Given the description of an element on the screen output the (x, y) to click on. 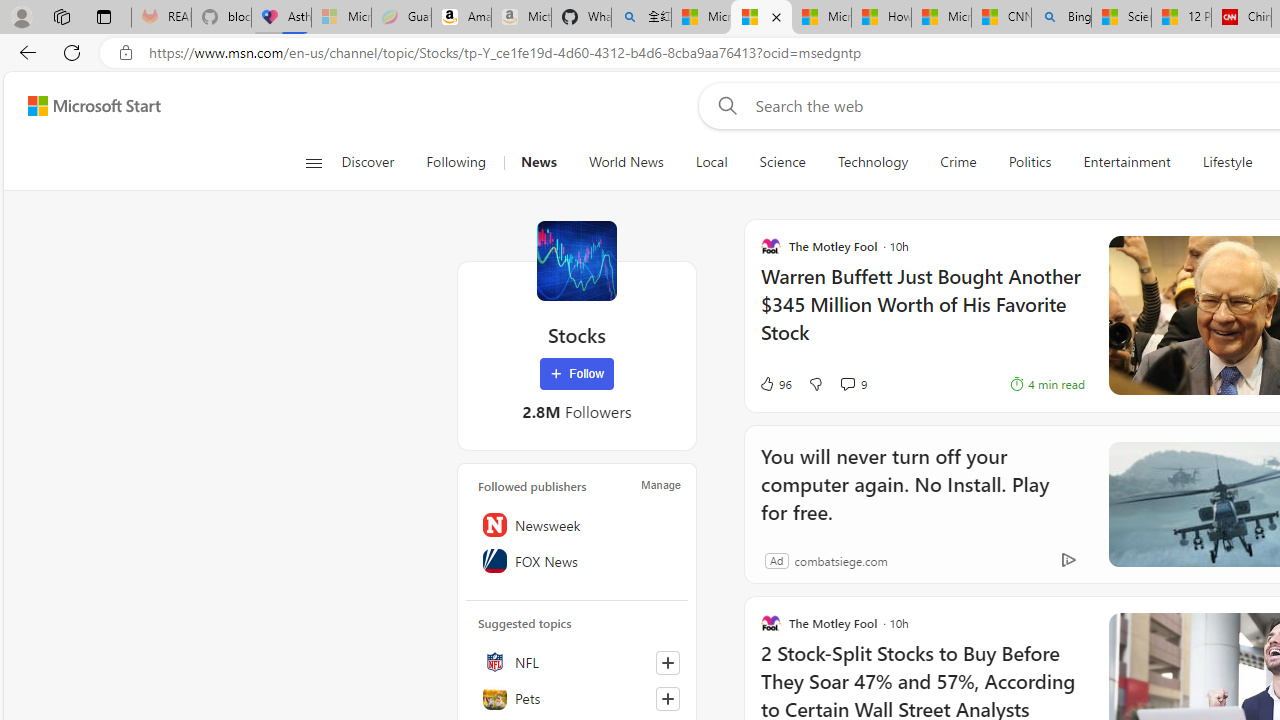
View comments 9 Comment (852, 384)
